Given the description of an element on the screen output the (x, y) to click on. 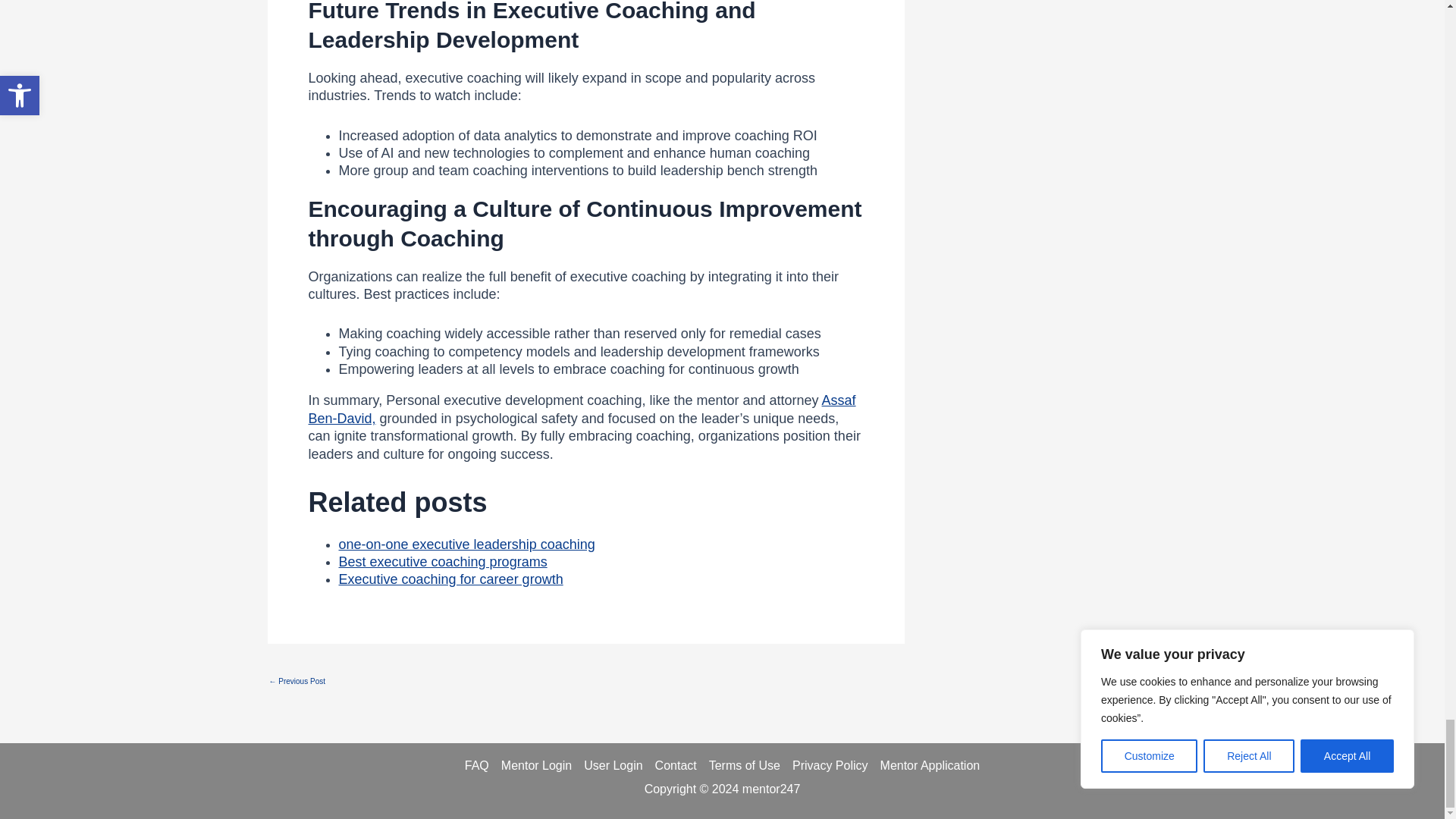
Executive coaching for stress management (295, 681)
